Given the description of an element on the screen output the (x, y) to click on. 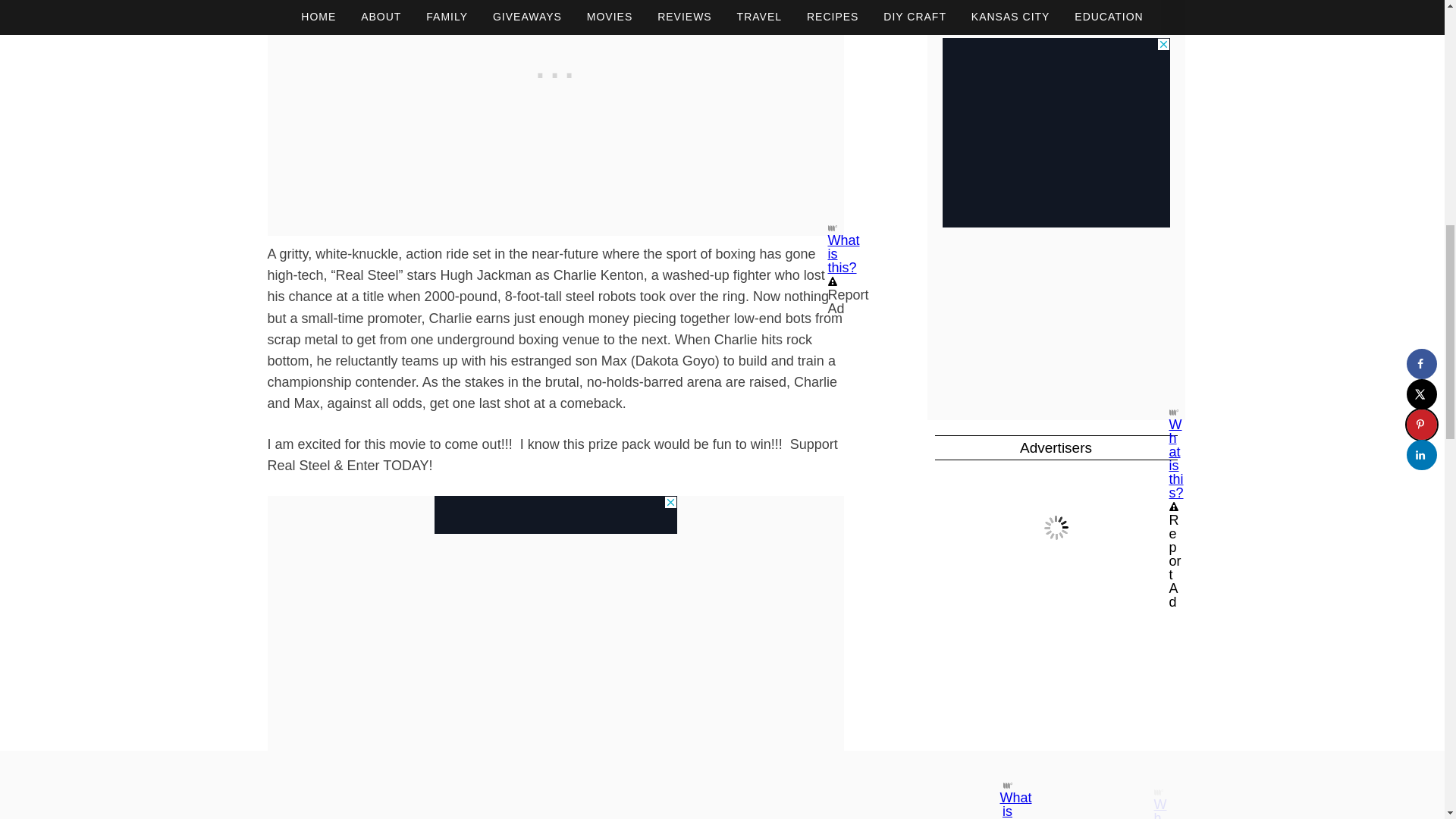
3rd party ad content (555, 514)
3rd party ad content (1055, 77)
3rd party ad content (1055, 688)
I love shop on dhgate where I can save a lot (1056, 526)
